Given the description of an element on the screen output the (x, y) to click on. 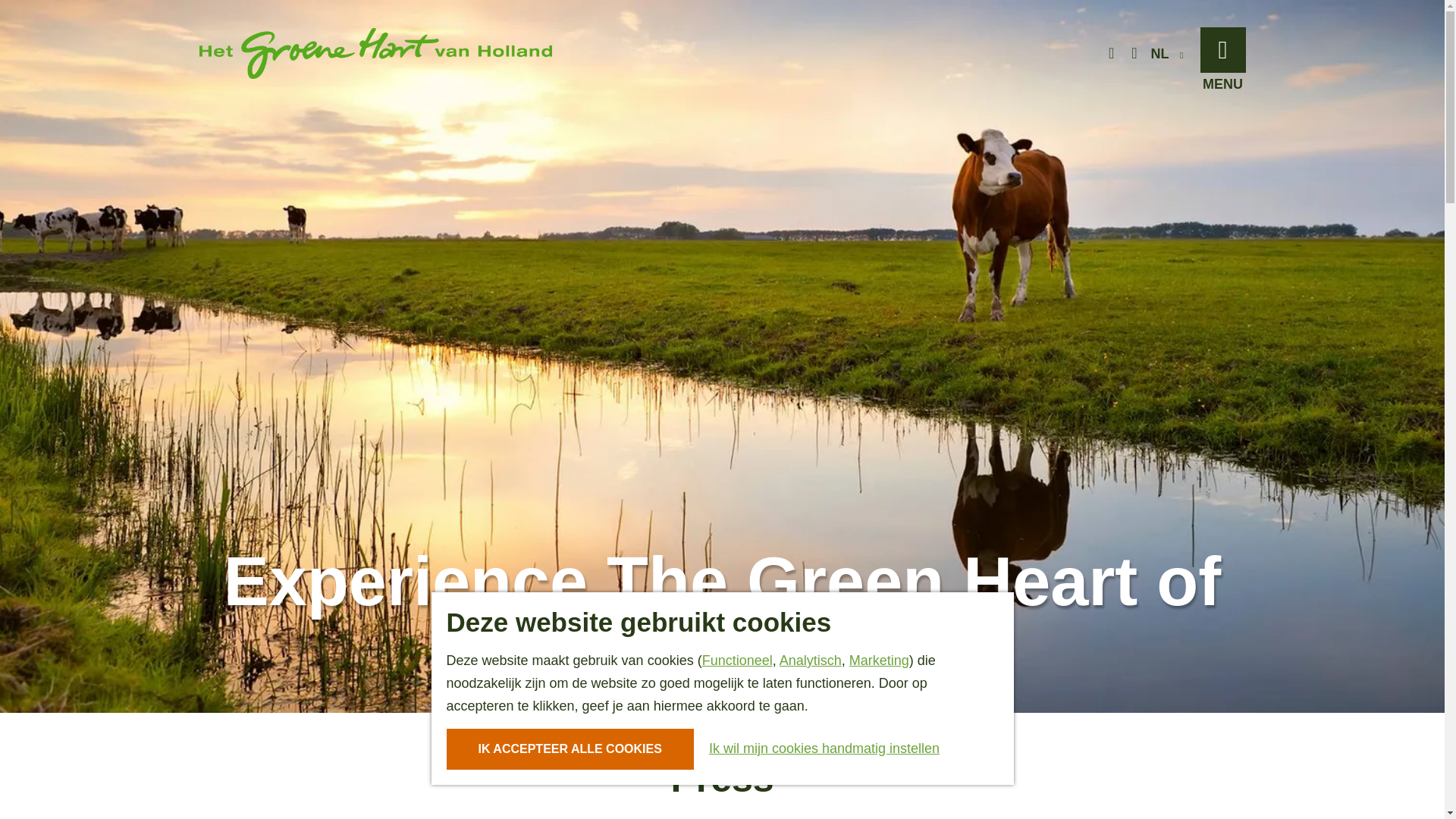
Marketing (878, 660)
Ga naar de homepage van Het Groene Hart (374, 53)
IK ACCEPTEER ALLE COOKIES (569, 748)
Functioneel (737, 660)
Ik wil mijn cookies handmatig instellen (818, 748)
Analytisch (809, 660)
Menu (1221, 49)
